Given the description of an element on the screen output the (x, y) to click on. 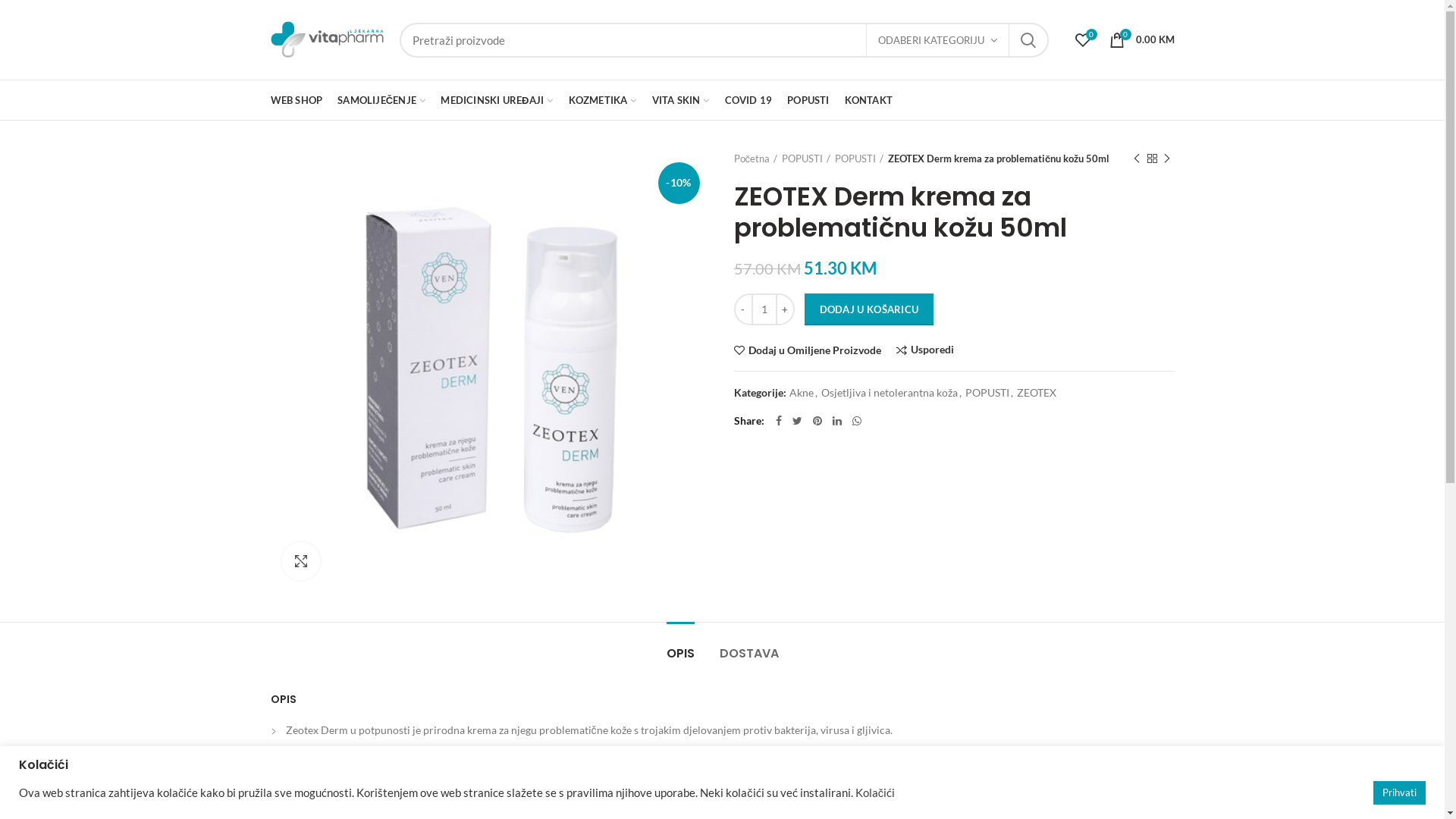
KONTAKT Element type: text (868, 99)
Facebook Element type: text (778, 420)
COVID 19 Element type: text (748, 99)
DOSTAVA Element type: text (748, 645)
0
0.00 KM Element type: text (1141, 39)
Next product Element type: text (1165, 158)
POPUSTI Element type: text (805, 158)
POPUSTI Element type: text (807, 99)
ODABERI KATEGORIJU Element type: text (936, 40)
SEARCH Element type: text (1027, 39)
WhatsApp Element type: text (856, 420)
Akne Element type: text (800, 392)
ZEOTEX Element type: text (1035, 392)
0 Element type: text (1082, 39)
Prihvati Element type: text (1399, 792)
Twitter Element type: text (797, 420)
linkedin Element type: text (836, 420)
POPUSTI Element type: text (986, 392)
OPIS Element type: text (679, 645)
zeoteks-square-l_608bc46230d44 Element type: hover (490, 369)
WEB SHOP Element type: text (295, 99)
Dodaj u Omiljene Proizvode Element type: text (807, 350)
Previous product Element type: text (1135, 158)
Usporedi Element type: text (924, 349)
KOZMETIKA Element type: text (602, 99)
POPUSTI Element type: text (858, 158)
Pinterest Element type: text (816, 420)
VITA SKIN Element type: text (680, 99)
